Given the description of an element on the screen output the (x, y) to click on. 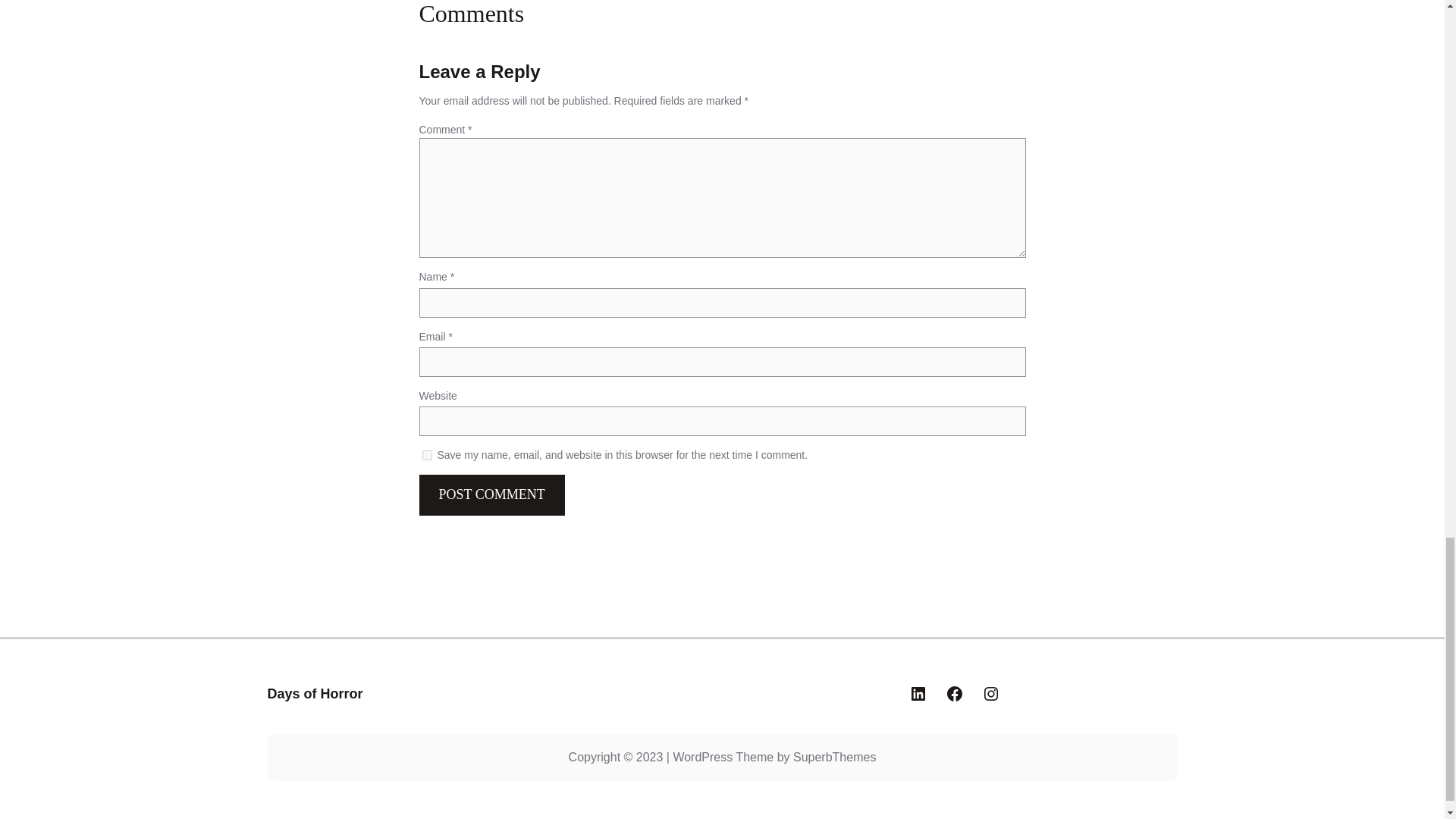
Facebook (953, 693)
LinkedIn (917, 693)
yes (426, 455)
Days of Horror (314, 693)
SuperbThemes (834, 757)
Post Comment (491, 495)
Instagram (989, 693)
Post Comment (491, 495)
